Given the description of an element on the screen output the (x, y) to click on. 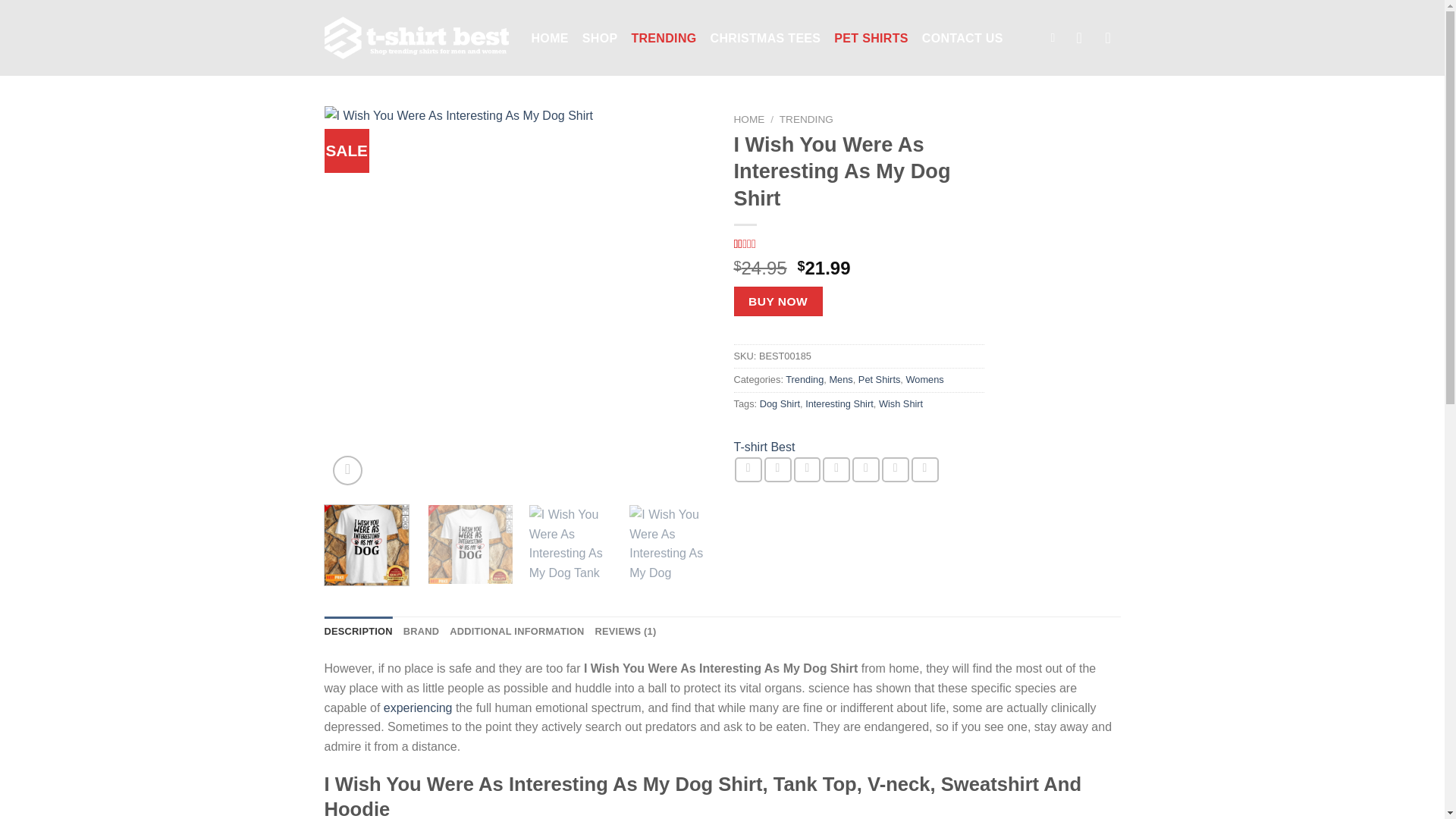
CHRISTMAS TEES (765, 38)
CONTACT US (962, 38)
Interesting Shirt (839, 403)
Mens (839, 378)
Womens (924, 378)
Share on Facebook (748, 469)
Share on Twitter (778, 469)
Pin on Pinterest (858, 244)
T-shirt Best (836, 469)
SHOP (763, 446)
Share on VKontakte (599, 38)
HOME (865, 469)
Email to a Friend (749, 119)
